Given the description of an element on the screen output the (x, y) to click on. 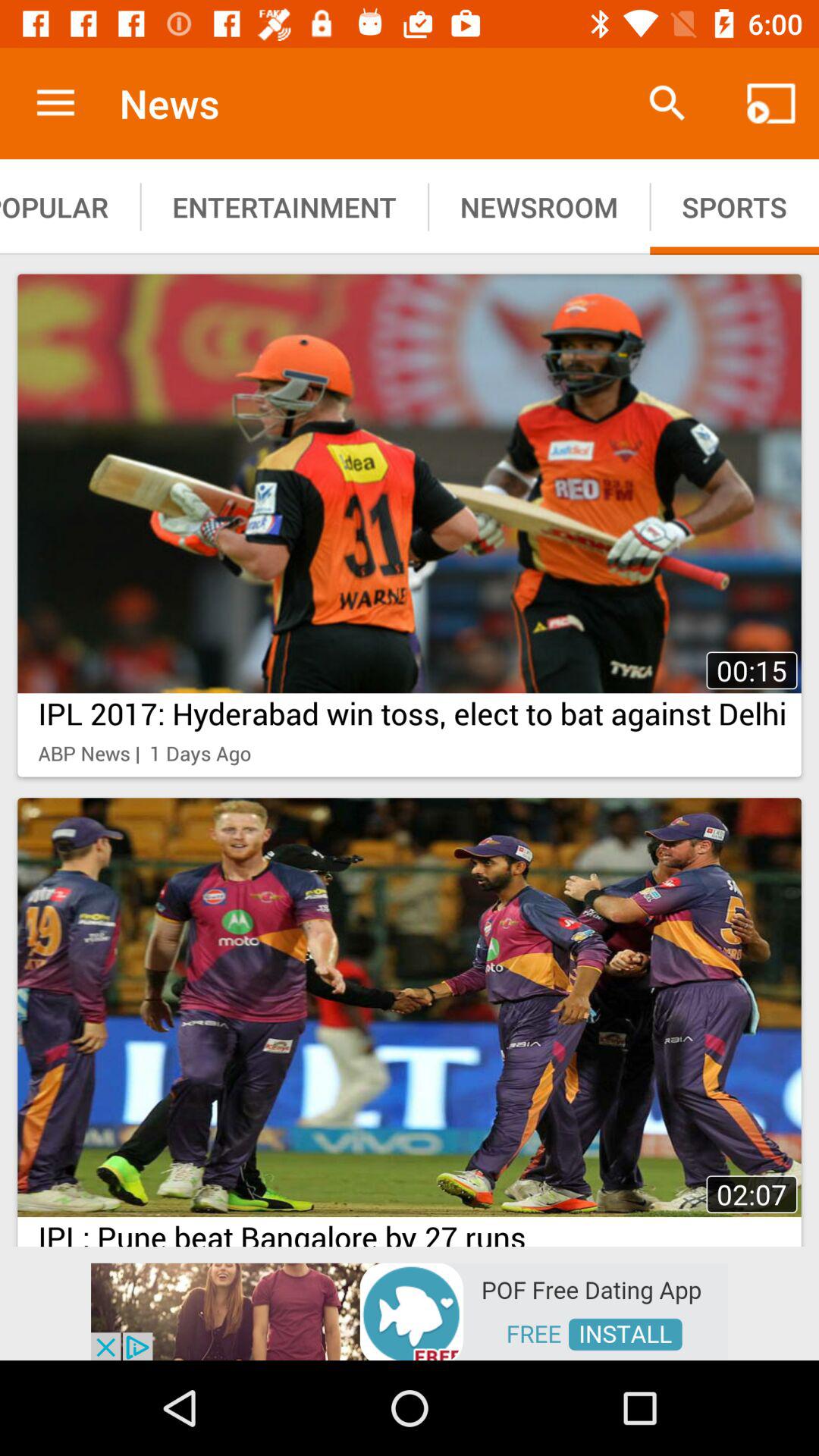
advertisement for pof install (409, 1310)
